Given the description of an element on the screen output the (x, y) to click on. 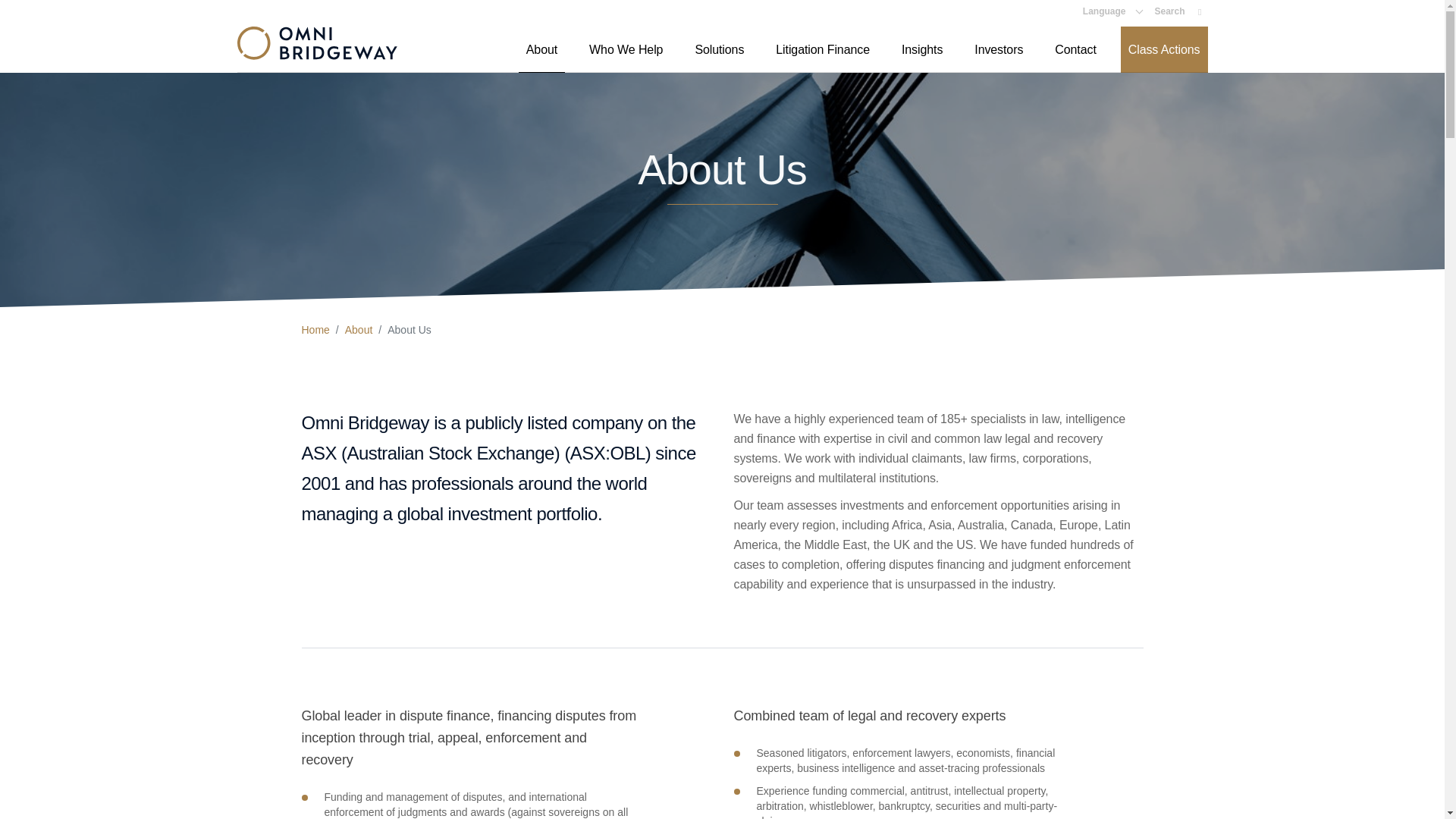
Language (1112, 10)
Insights (921, 49)
Litigation Finance (822, 49)
About (541, 49)
Solutions (719, 49)
Search (1177, 10)
Who We Help (624, 49)
